Given the description of an element on the screen output the (x, y) to click on. 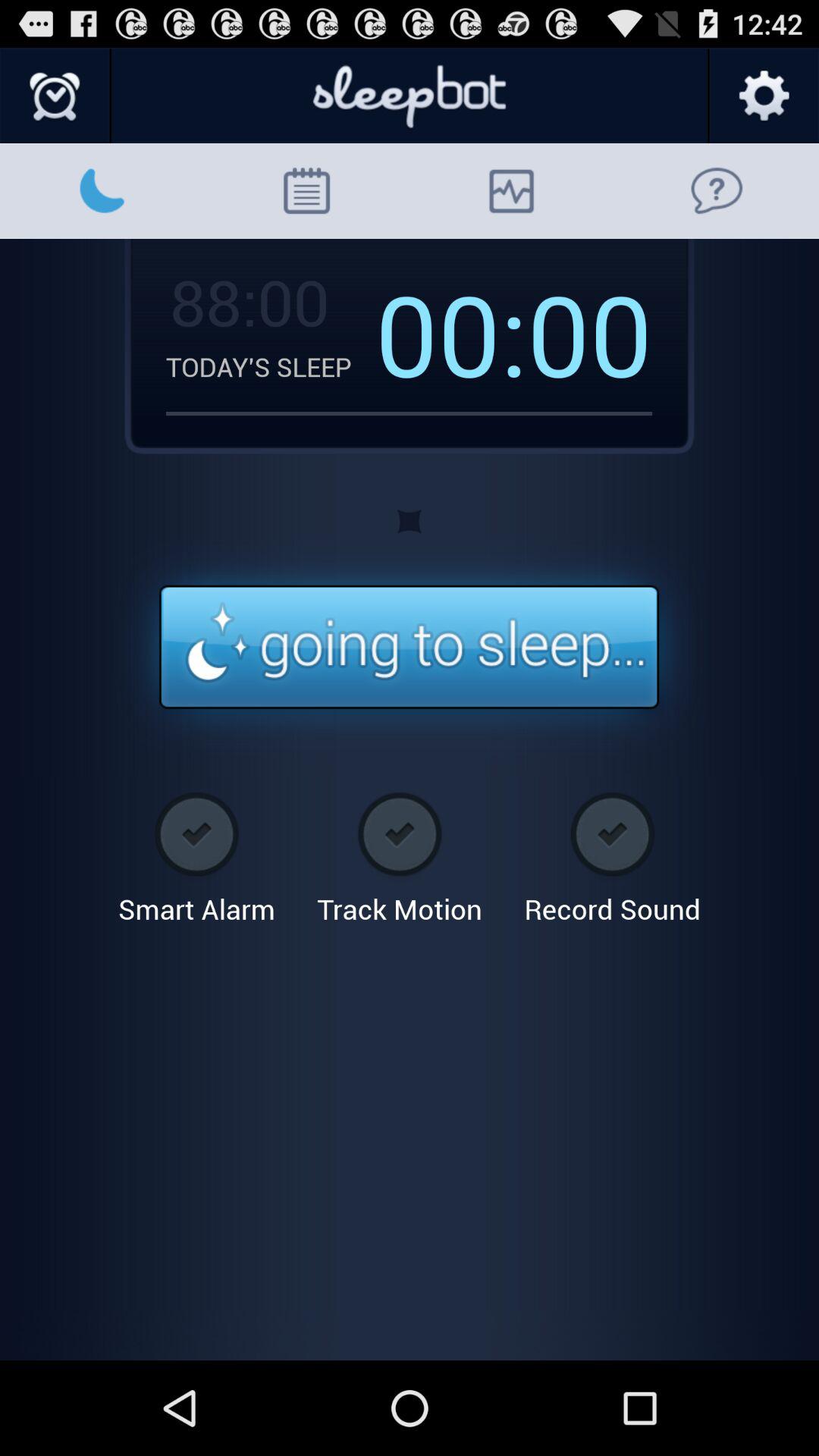
open icon to the left of track motion icon (196, 852)
